Given the description of an element on the screen output the (x, y) to click on. 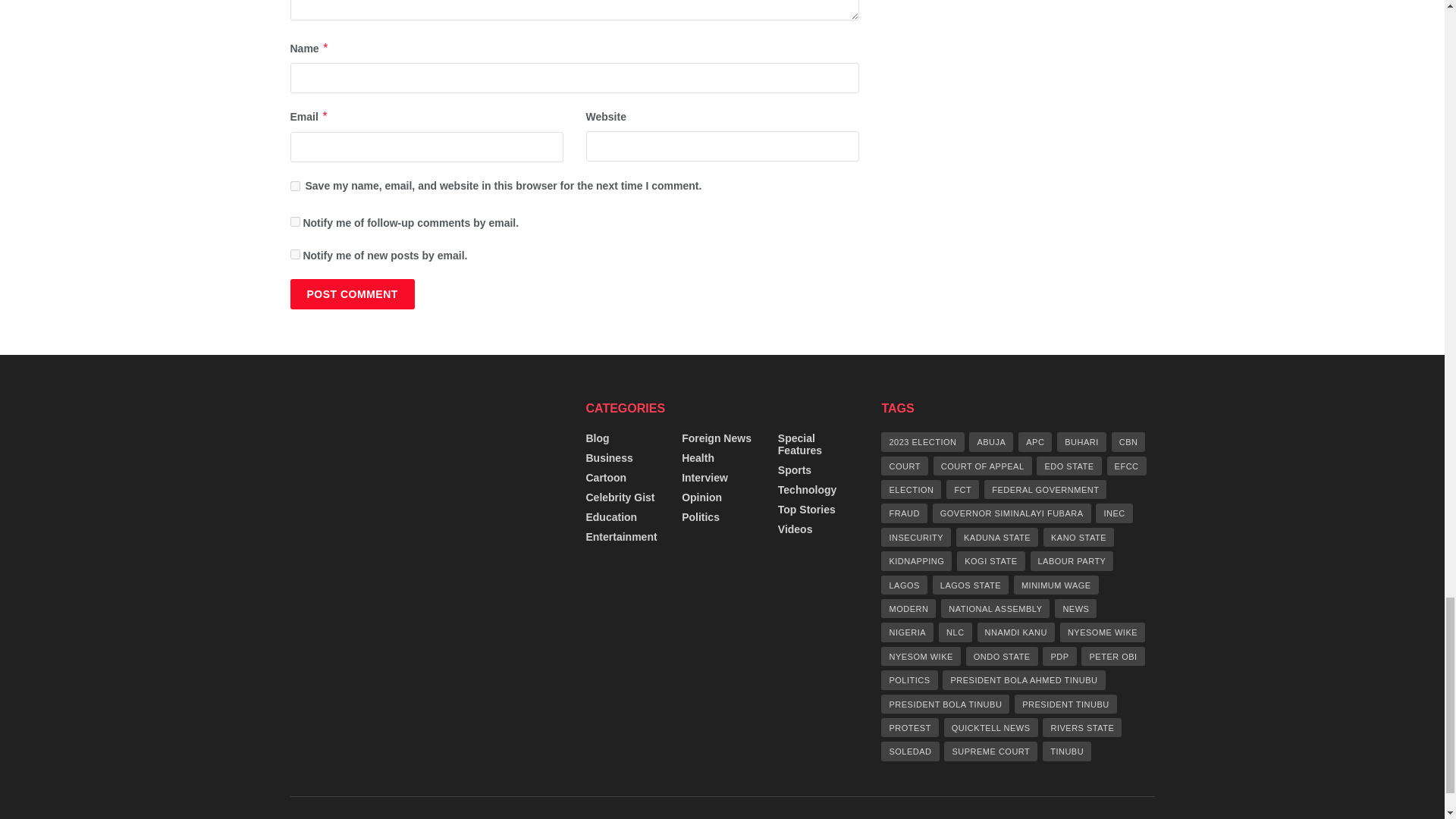
subscribe (294, 254)
yes (294, 185)
subscribe (294, 221)
Post Comment (351, 294)
